Given the description of an element on the screen output the (x, y) to click on. 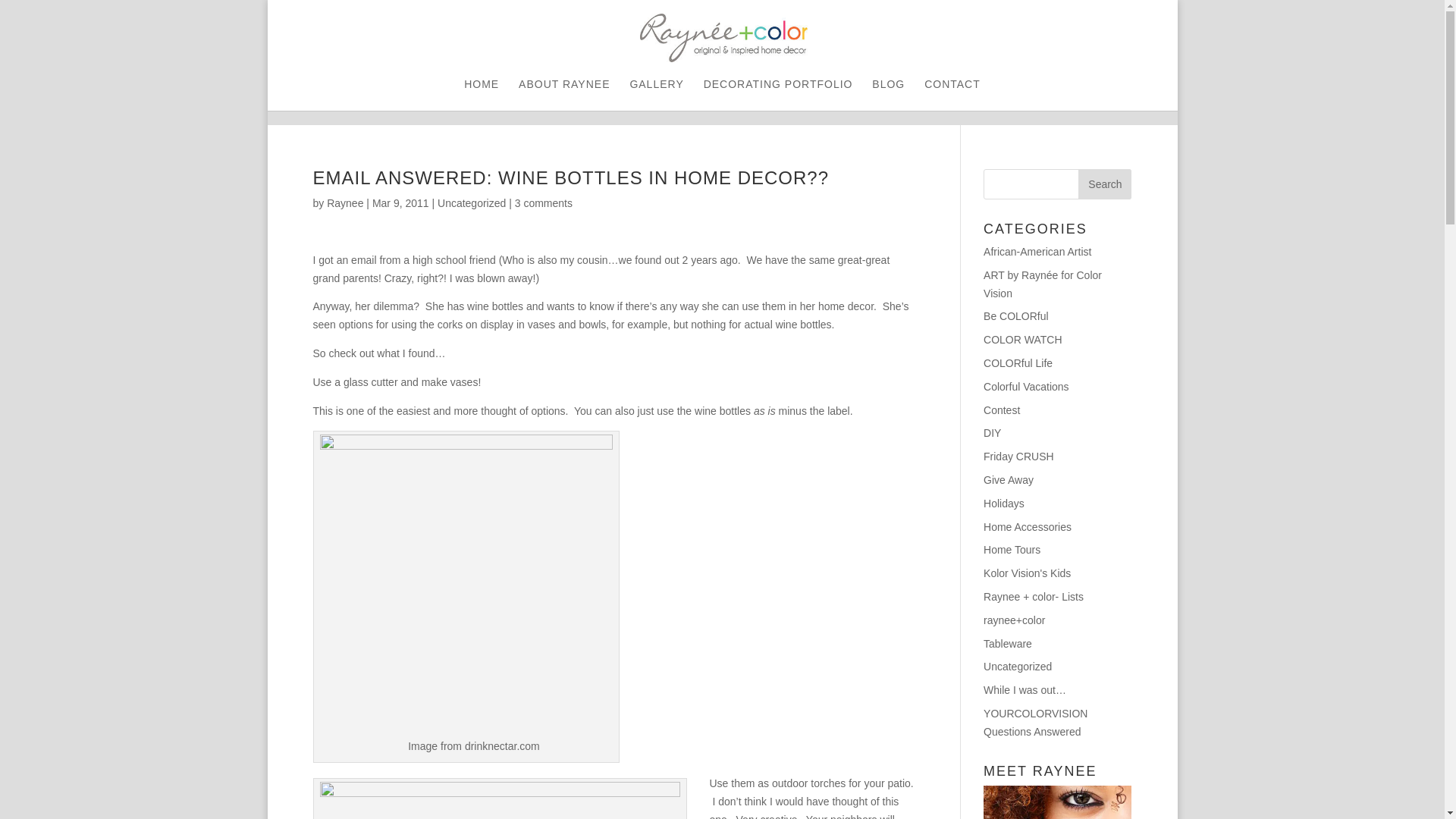
Search (1104, 183)
Uncategorized (471, 203)
COLORful Life (1018, 363)
African-American Artist (1037, 251)
COLOR WATCH (1022, 339)
Posts by Raynee (344, 203)
CONTACT (951, 94)
3 comments (543, 203)
Raynee (344, 203)
DECORATING PORTFOLIO (778, 94)
Search (1104, 183)
Be COLORful (1016, 316)
BLOG (888, 94)
GALLERY (655, 94)
ABOUT RAYNEE (564, 94)
